Given the description of an element on the screen output the (x, y) to click on. 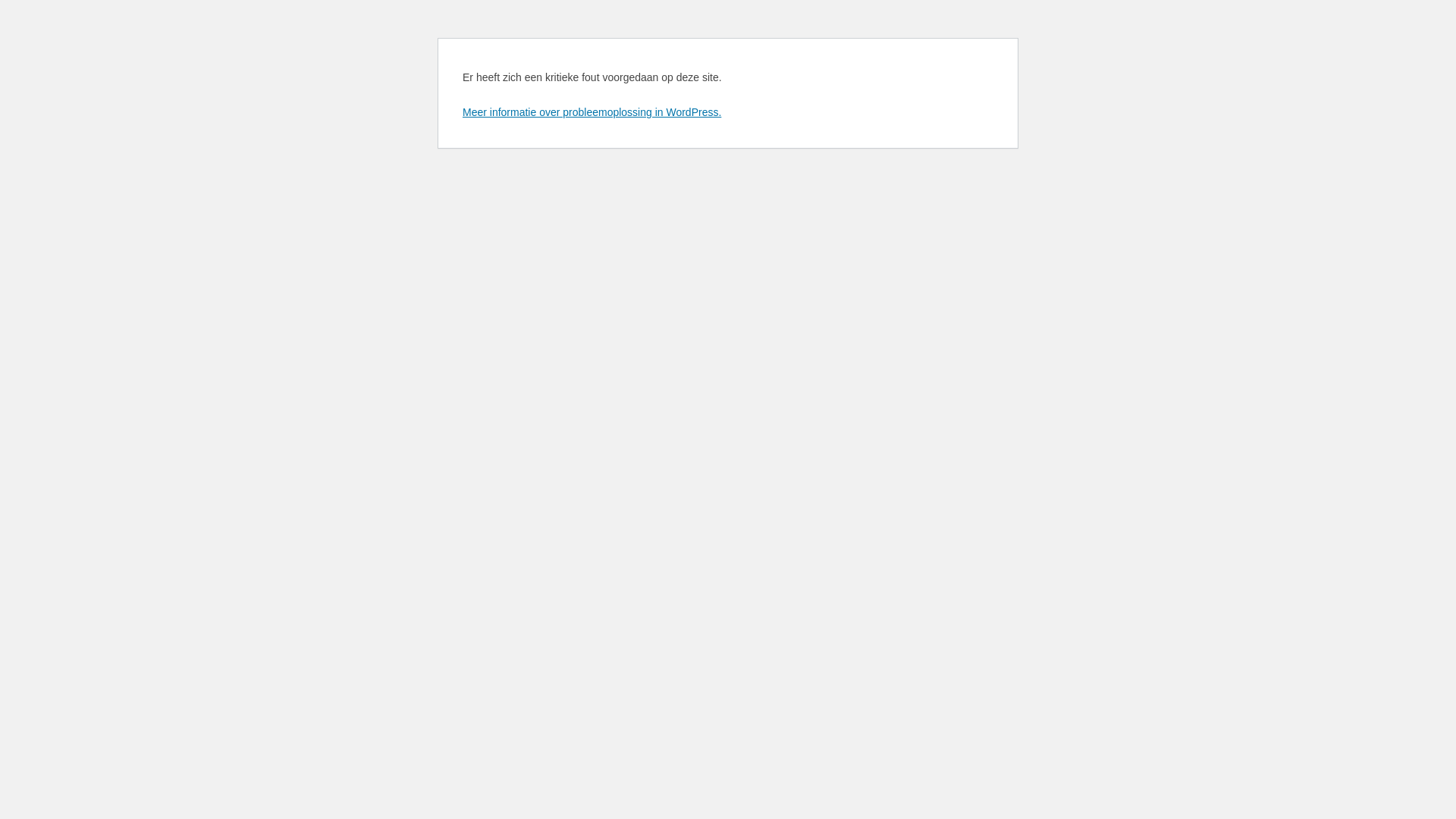
Meer informatie over probleemoplossing in WordPress. Element type: text (591, 112)
